Given the description of an element on the screen output the (x, y) to click on. 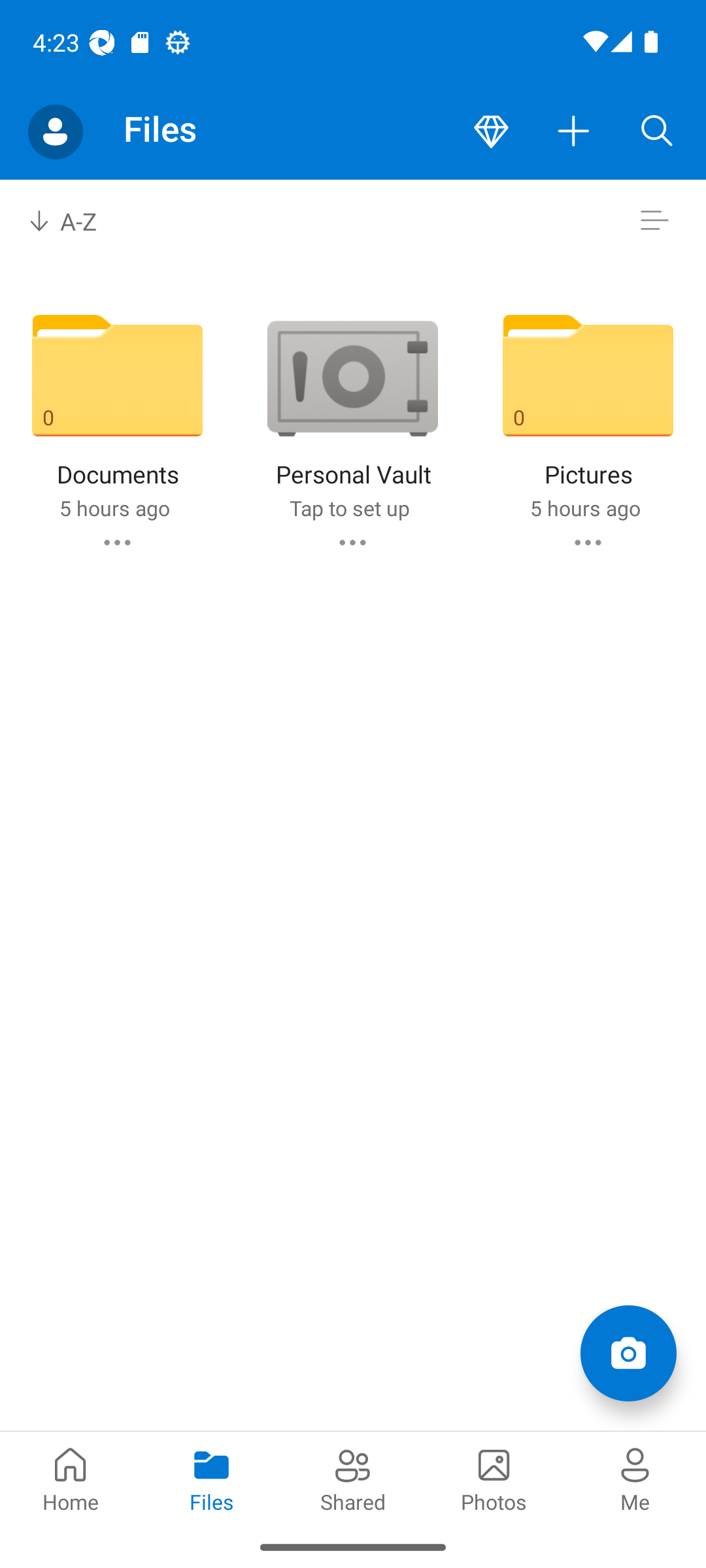
Account switcher (55, 131)
Premium button (491, 131)
More actions button (574, 131)
Search button (656, 131)
A-Z Sort by combo box, sort by name, A to Z (76, 220)
Switch to list view (654, 220)
5 hours ago (113, 507)
Tap to set up (348, 507)
5 hours ago (584, 507)
Documents commands (116, 542)
Personal Vault commands (352, 542)
Pictures commands (587, 542)
Add items Scan (628, 1352)
Home pivot Home (70, 1478)
Shared pivot Shared (352, 1478)
Photos pivot Photos (493, 1478)
Me pivot Me (635, 1478)
